Given the description of an element on the screen output the (x, y) to click on. 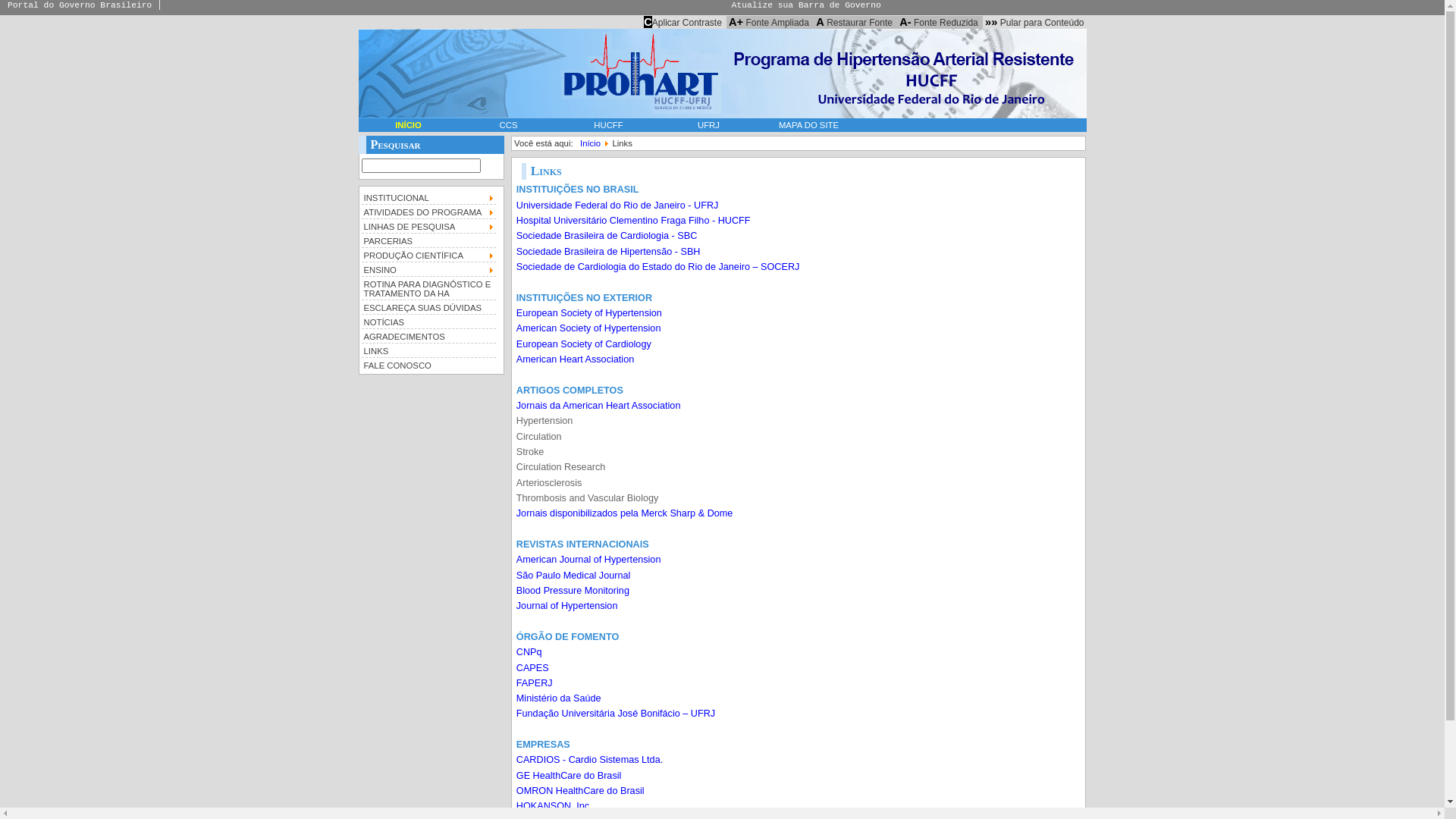
CARDIOS - Cardio Sistemas Ltda. Element type: text (589, 759)
LINKS Element type: text (427, 349)
PARCERIAS Element type: text (427, 239)
American Journal of Hypertension Element type: text (588, 559)
CNPq Element type: text (529, 651)
CCS Element type: text (508, 124)
Journal of Hypertension Element type: text (567, 605)
FALE CONOSCO Element type: text (427, 364)
A- Fonte Reduzida Element type: text (938, 21)
European Society of Cardiology Element type: text (583, 343)
American Society of Hypertension Element type: text (588, 328)
American Heart Association Element type: text (574, 359)
GE HealthCare do Brasil Element type: text (568, 775)
MAPA DO SITE Element type: text (808, 124)
FAPERJ Element type: text (534, 682)
HOKANSON, Inc. Element type: text (554, 805)
European Society of Hypertension Element type: text (589, 312)
Jornais da American Heart Association Element type: text (598, 405)
Jornais disponibilizados pela Merck Sharp & Dome Element type: text (624, 513)
Atualize sua Barra de Governo Element type: text (806, 4)
A+ Fonte Ampliada Element type: text (768, 21)
CAPES Element type: text (532, 667)
INSTITUCIONAL Element type: text (427, 196)
Sociedade Brasileira de Cardiologia - SBC Element type: text (606, 235)
Universidade Federal do Rio de Janeiro - UFRJ Element type: text (617, 205)
A Restaurar Fonte Element type: text (853, 21)
ENSINO Element type: text (427, 268)
UFRJ Element type: text (708, 124)
LINHAS DE PESQUISA Element type: text (427, 225)
AGRADECIMENTOS Element type: text (427, 335)
Portal do Governo Brasileiro Element type: text (79, 4)
ATIVIDADES DO PROGRAMA Element type: text (427, 210)
OMRON HealthCare do Brasil Element type: text (580, 790)
Blood Pressure Monitoring Element type: text (572, 590)
HUCFF Element type: text (608, 124)
CAplicar Contraste Element type: text (682, 21)
